Given the description of an element on the screen output the (x, y) to click on. 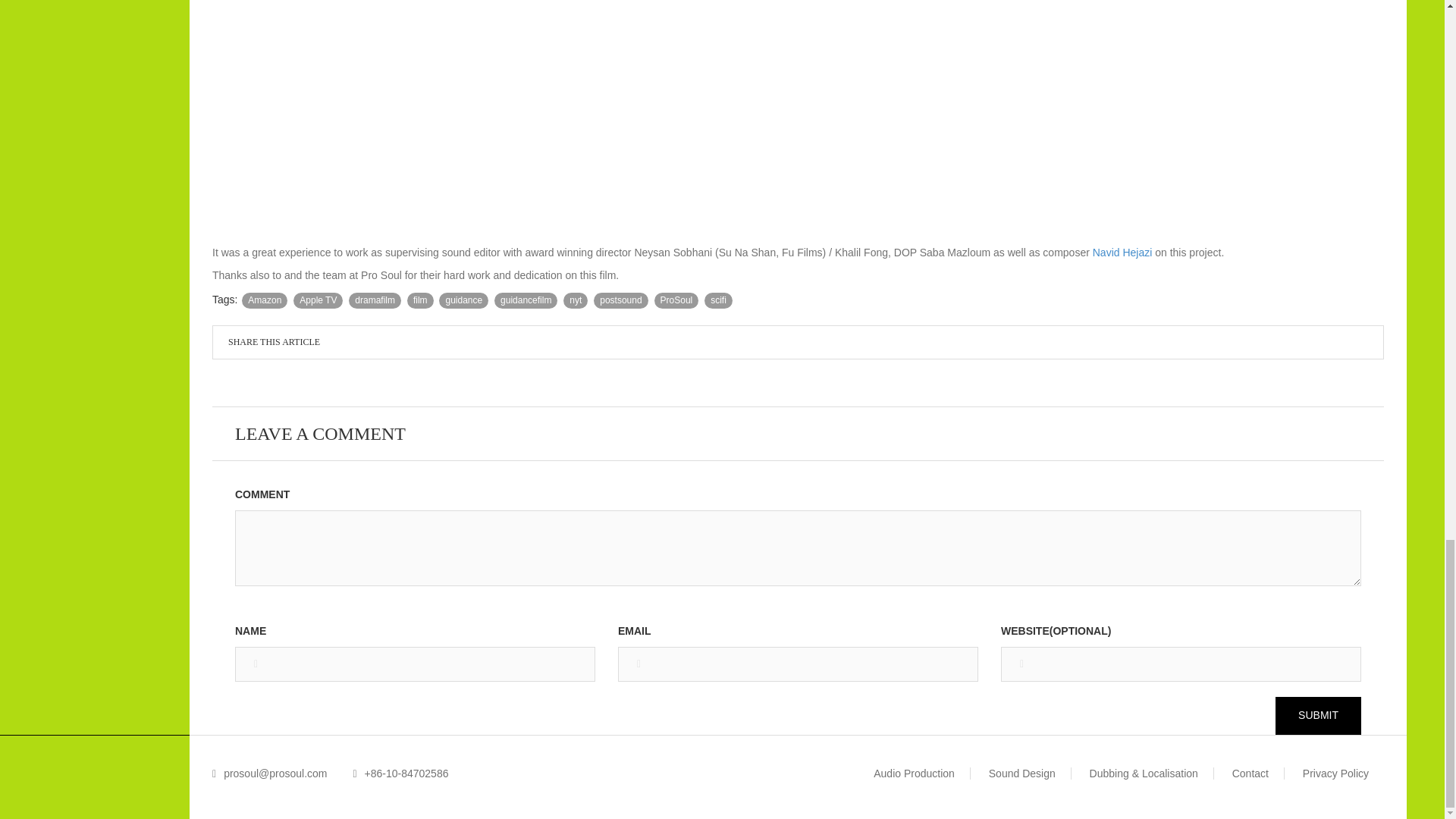
postsound (620, 300)
guidance (463, 300)
Navid Hejazi (1123, 252)
ProSoul (675, 300)
Sound Design (1022, 773)
Privacy Policy (1335, 773)
scifi (718, 300)
Contact (1250, 773)
Submit (1318, 715)
nyt (575, 300)
Amazon (263, 300)
Audio Production (915, 773)
film (420, 300)
Apple TV (318, 300)
guidancefilm (526, 300)
